Given the description of an element on the screen output the (x, y) to click on. 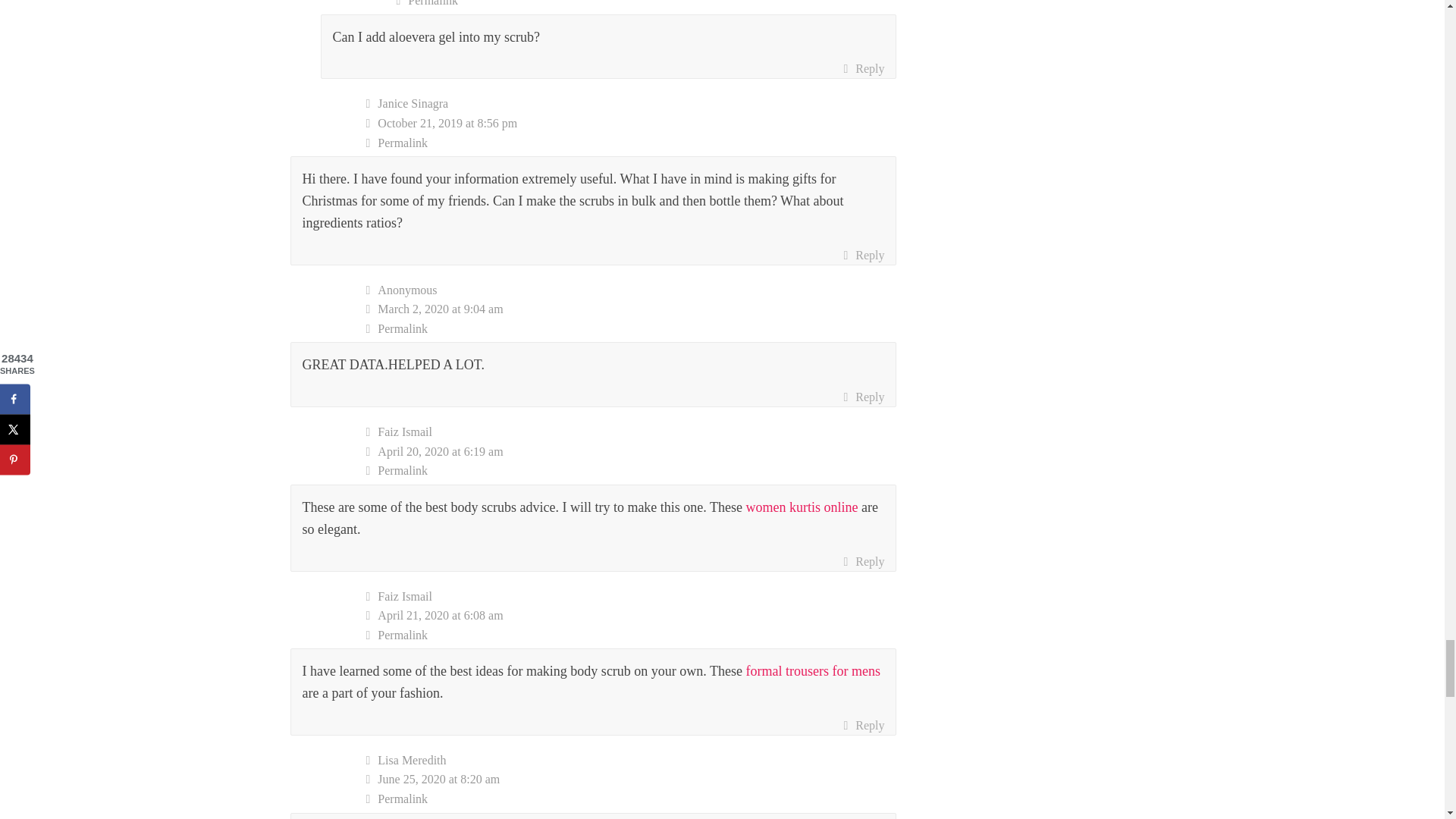
Permalink (646, 5)
Reply (863, 68)
Reply (863, 255)
Permalink (630, 329)
Permalink (630, 470)
Reply (863, 397)
women kurtis online (802, 507)
Permalink (630, 143)
